Given the description of an element on the screen output the (x, y) to click on. 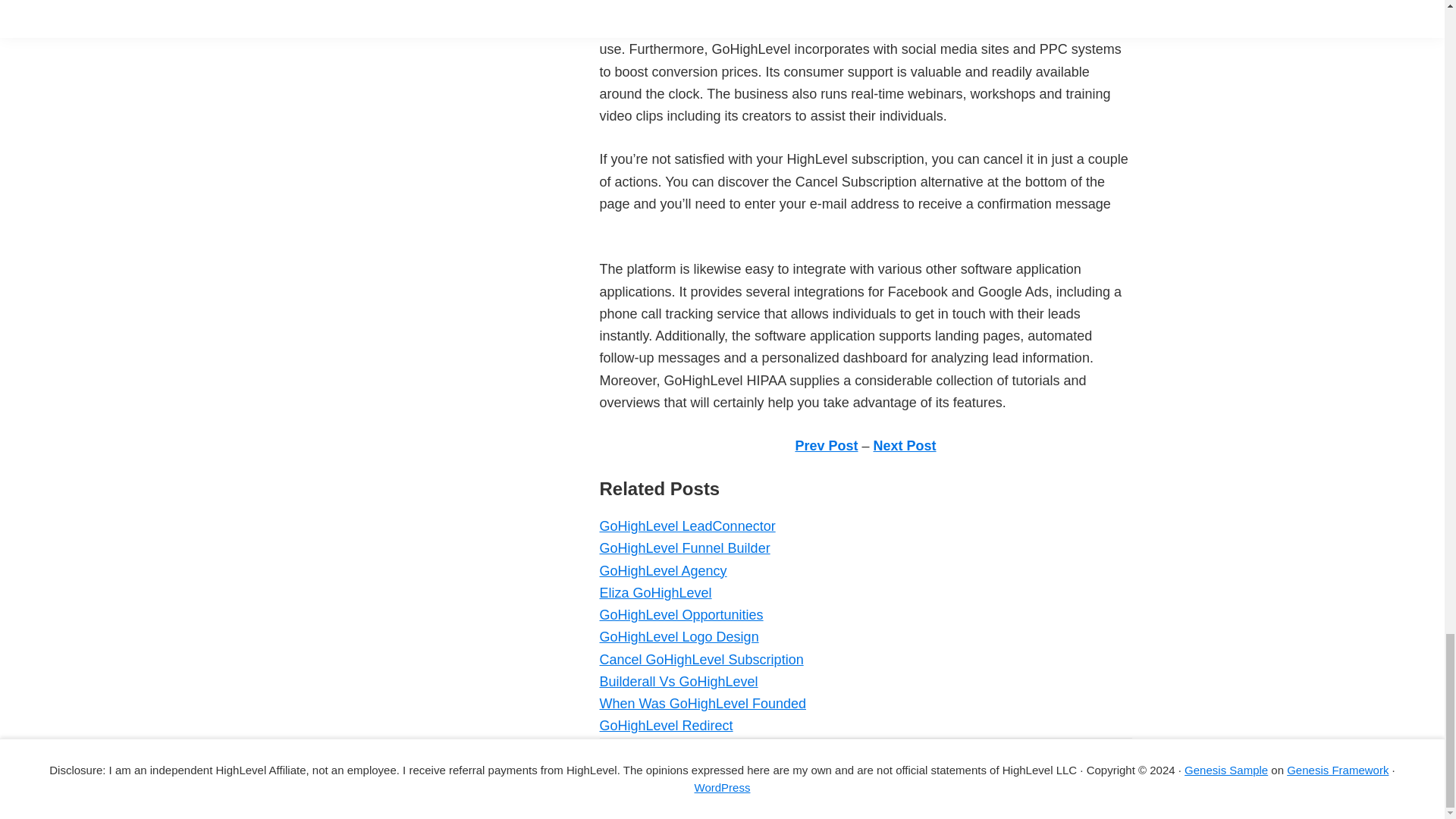
GoHighLevel Redirect (665, 725)
GoHighLevel Redirect (665, 725)
Eliza GoHighLevel (654, 592)
When Was GoHighLevel Founded (701, 703)
Cancel GoHighLevel Subscription (700, 659)
Eliza GoHighLevel (654, 592)
GoHighLevel LeadConnector (686, 525)
GoHighLevel Opportunities (680, 614)
Builderall Vs GoHighLevel (677, 681)
When Was GoHighLevel Founded (701, 703)
